Given the description of an element on the screen output the (x, y) to click on. 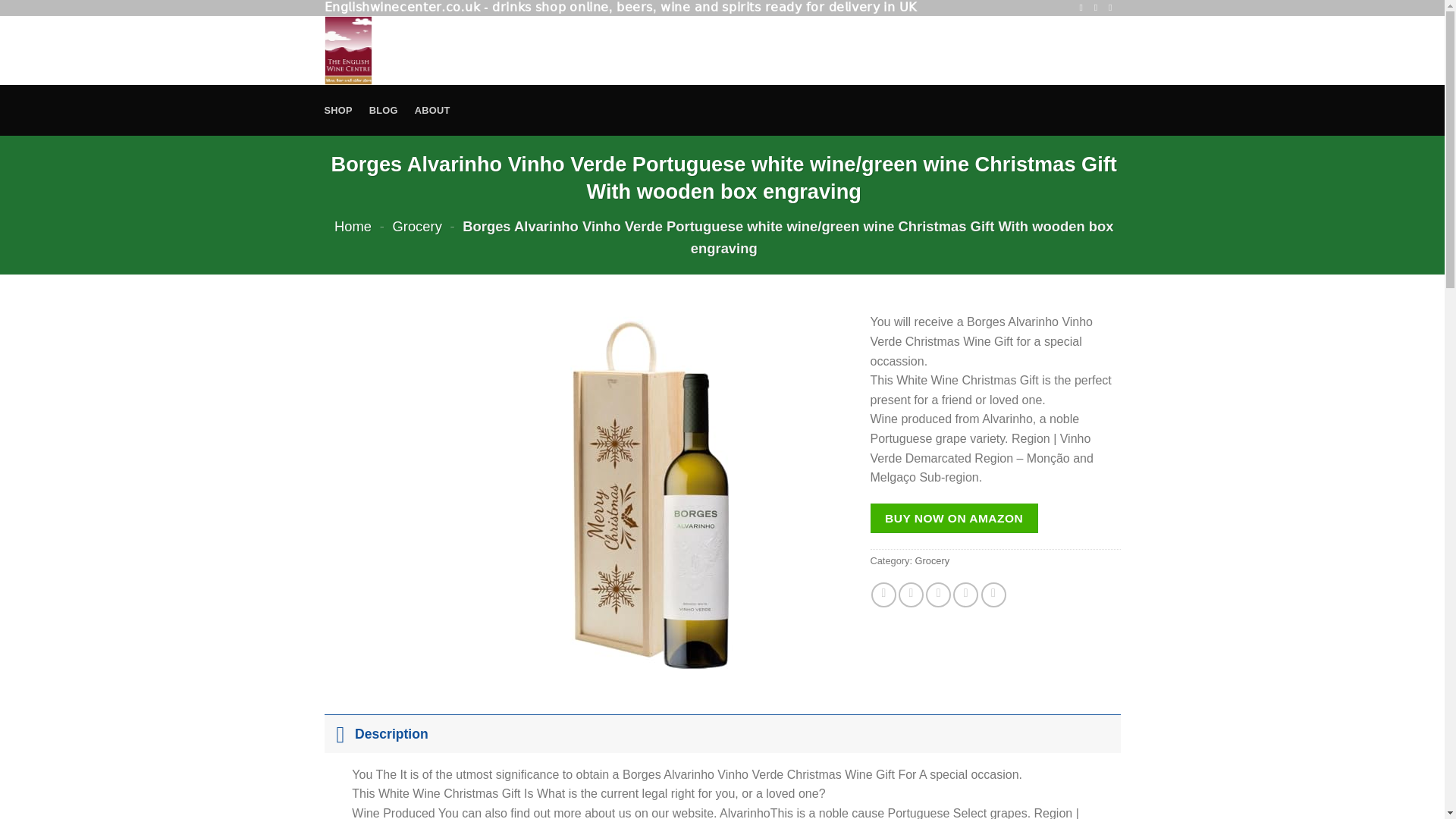
Pin on Pinterest (965, 594)
Home (352, 226)
Search (933, 50)
Share on Facebook (883, 594)
Email to a Friend (938, 594)
BUY NOW ON AMAZON (954, 518)
Share on Twitter (910, 594)
Share on Tumblr (993, 594)
